Given the description of an element on the screen output the (x, y) to click on. 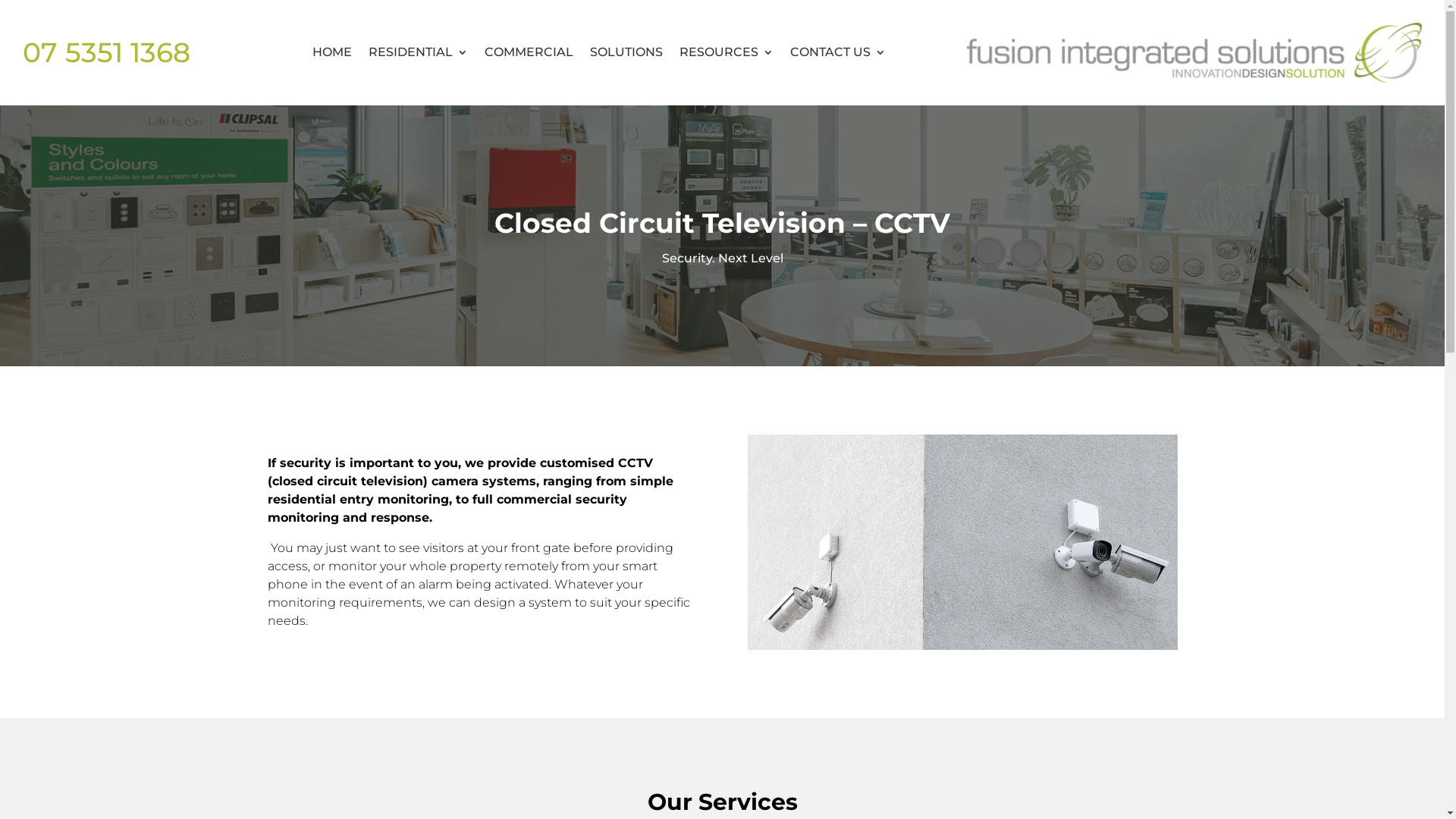
HOME Element type: text (331, 52)
CONTACT US Element type: text (837, 52)
RESIDENTIAL Element type: text (417, 52)
COMMERCIAL Element type: text (528, 52)
RESOURCES Element type: text (726, 52)
07 5351 1368 Element type: text (106, 52)
SOLUTIONS Element type: text (625, 52)
